Given the description of an element on the screen output the (x, y) to click on. 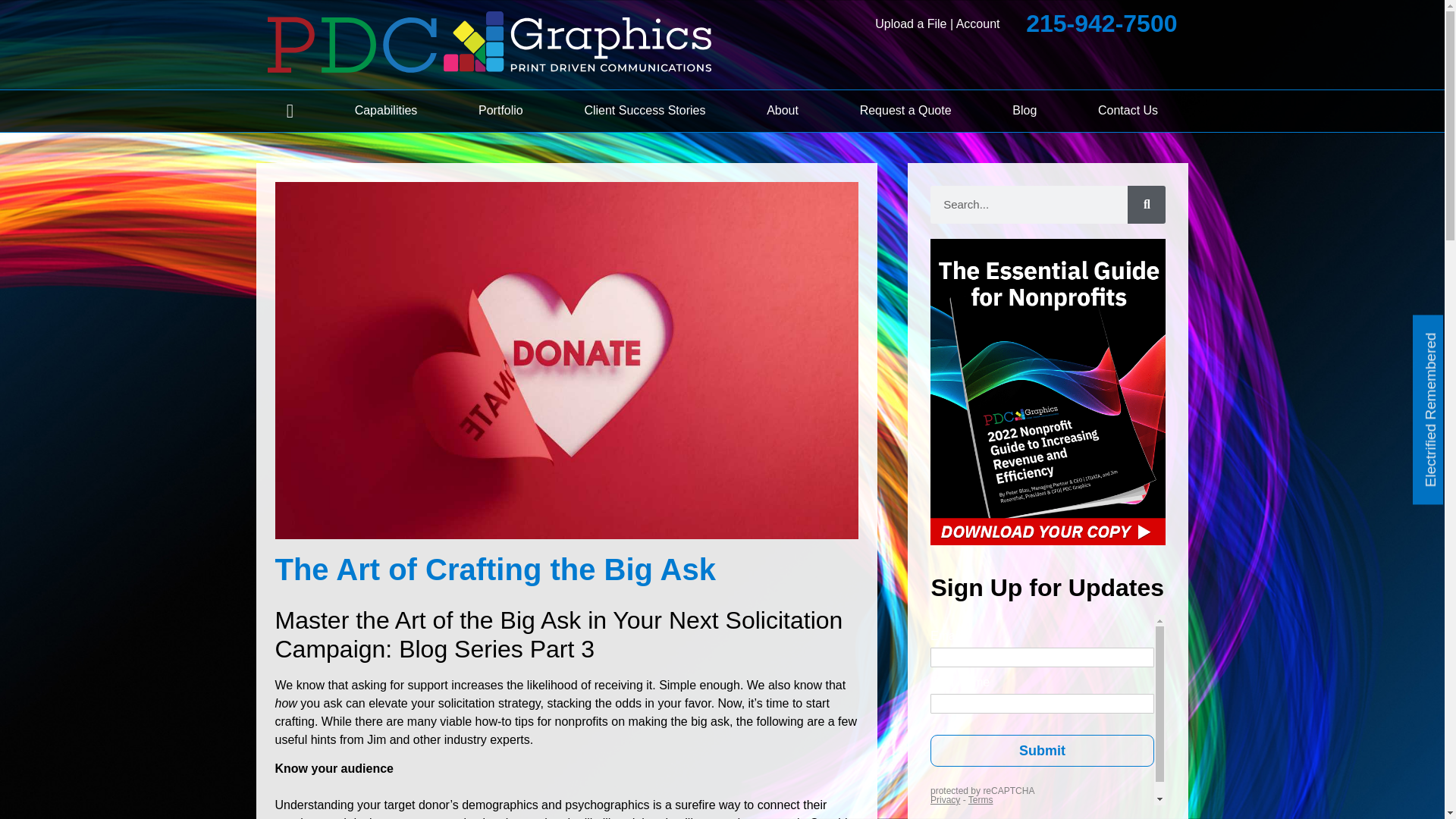
Client Success Stories (644, 110)
About (782, 110)
Capabilities (384, 110)
Portfolio (500, 110)
Blog (1024, 110)
Upload a File (910, 23)
Contact Us (1128, 110)
Account (978, 23)
Request a Quote (904, 110)
